Given the description of an element on the screen output the (x, y) to click on. 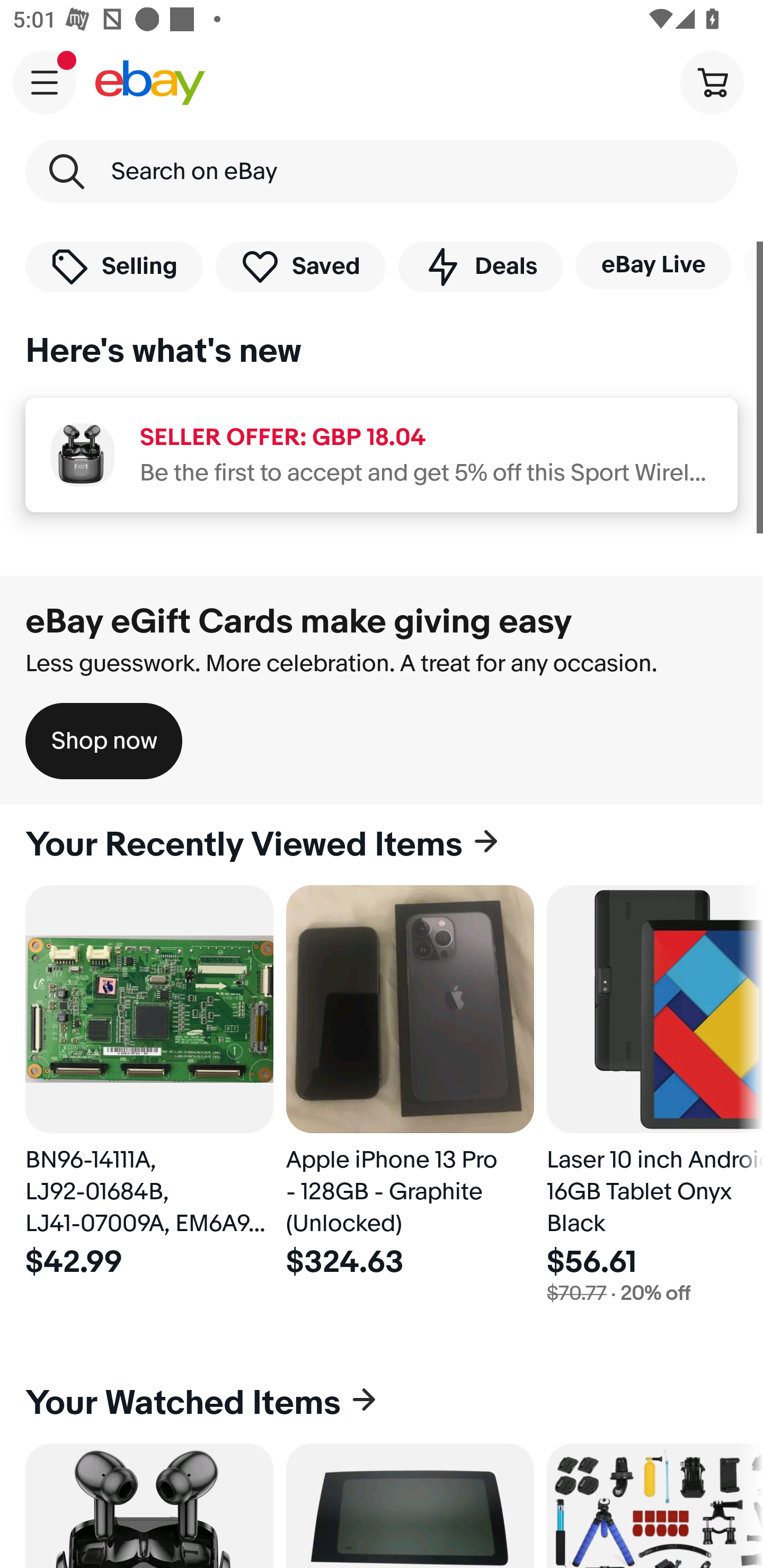
Main navigation, notification is pending, open (44, 82)
Cart button shopping cart (711, 81)
Search on eBay Search Keyword Search on eBay (381, 171)
Selling (113, 266)
Saved (300, 266)
Deals (480, 266)
eBay Live (652, 264)
eBay eGift Cards make giving easy (298, 621)
Shop now (103, 740)
Your Recently Viewed Items   (381, 844)
Your Watched Items   (381, 1403)
